Given the description of an element on the screen output the (x, y) to click on. 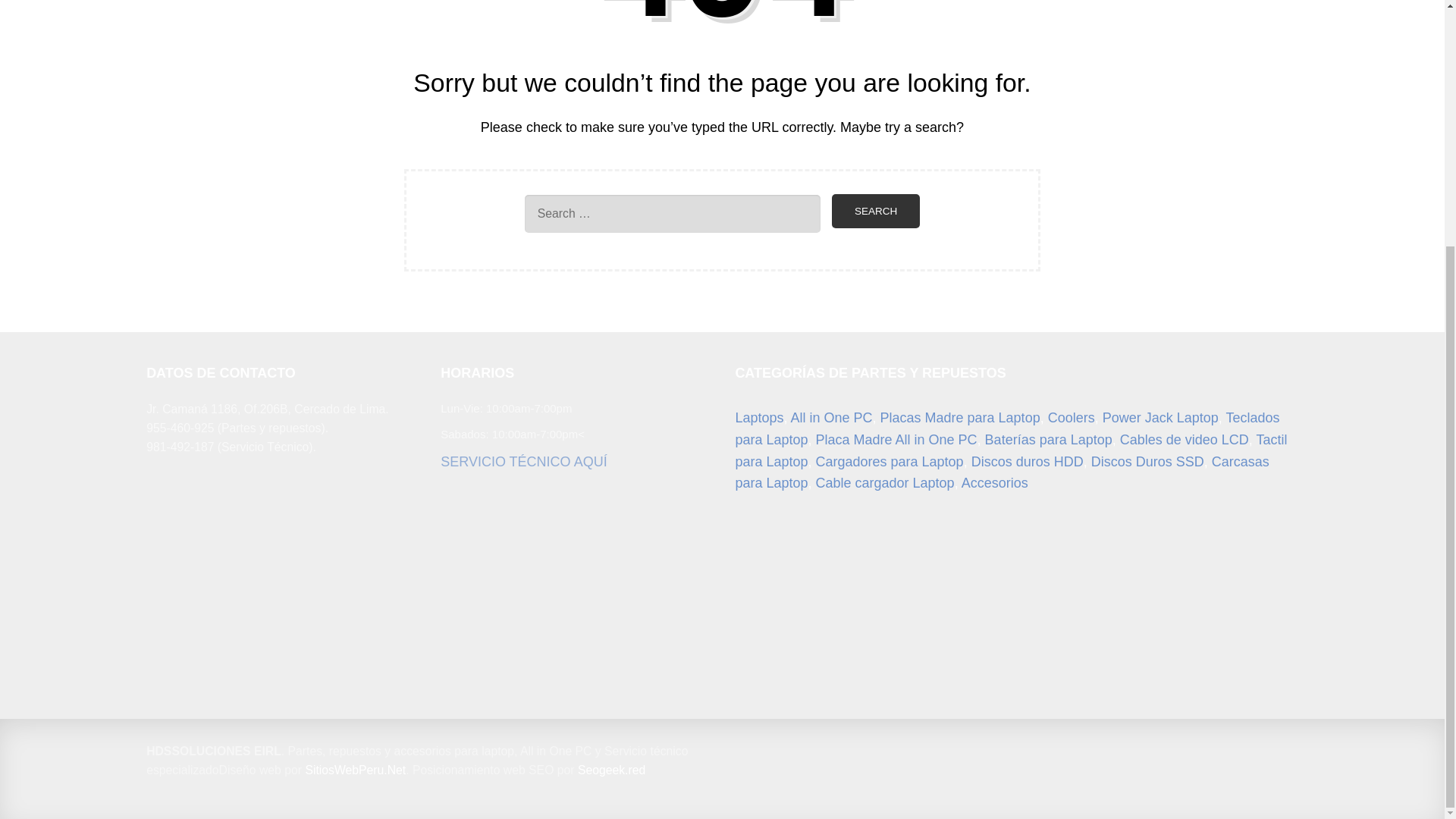
Cables de video LCD (1184, 439)
Laptops (759, 417)
Teclados para Laptop (1007, 428)
Power Jack Laptop (1160, 417)
Placa Madre All in One PC (895, 439)
Placas Madre para Laptop (960, 417)
Coolers (1071, 417)
Search (875, 211)
Search (875, 211)
All in One PC (831, 417)
Search (875, 211)
